Given the description of an element on the screen output the (x, y) to click on. 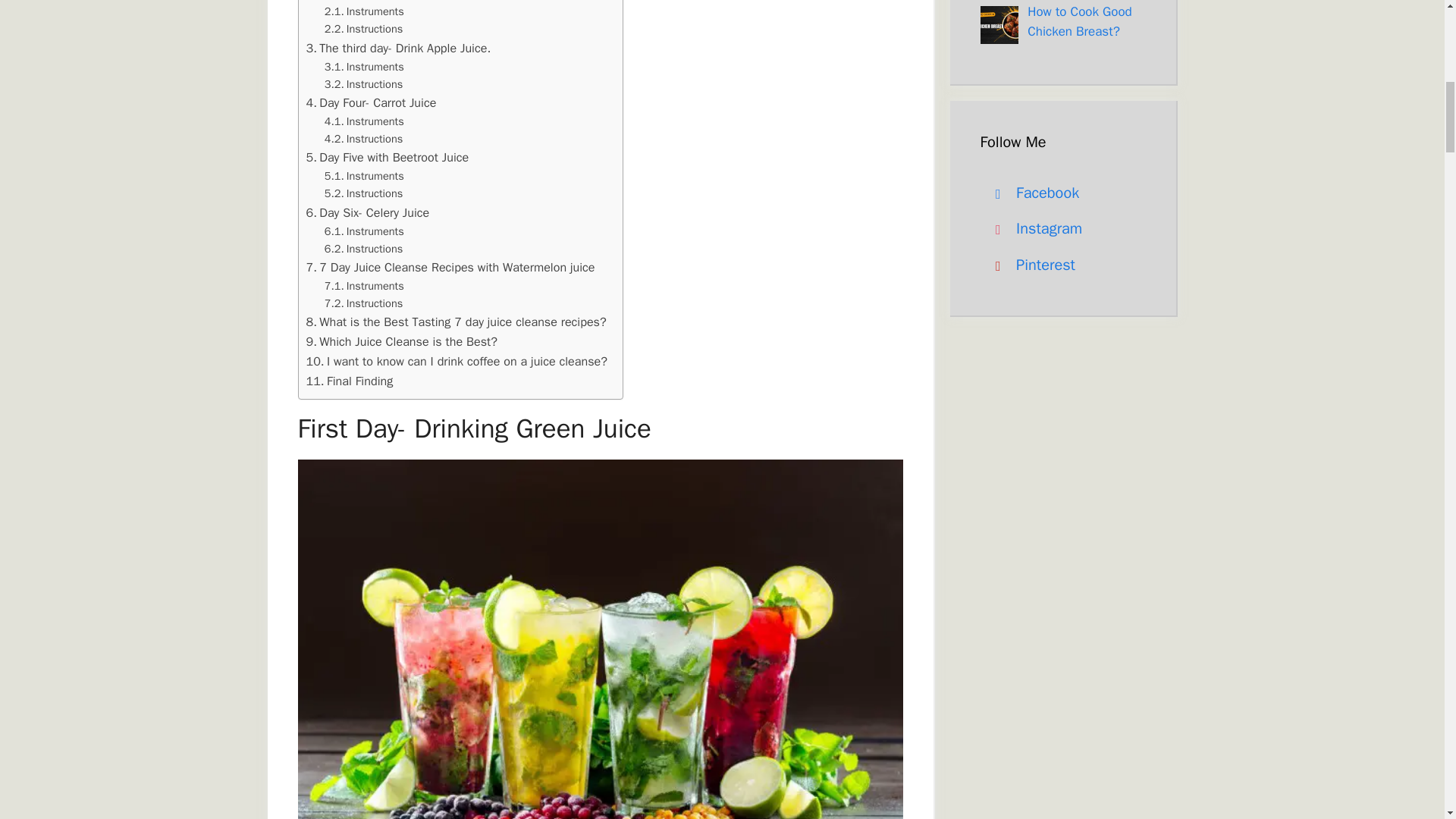
Final Finding (349, 381)
Day Five with Beetroot Juice (386, 157)
I want to know can I drink coffee on a juice cleanse? (456, 361)
Instruments  (365, 231)
Instructions (363, 84)
Instruments  (365, 176)
Instruments  (365, 121)
Day Six- Celery Juice  (369, 212)
Second day- Pineapple Juice  (390, 1)
The third day- Drink Apple Juice. (398, 48)
The third day- Drink Apple Juice. (398, 48)
